Given the description of an element on the screen output the (x, y) to click on. 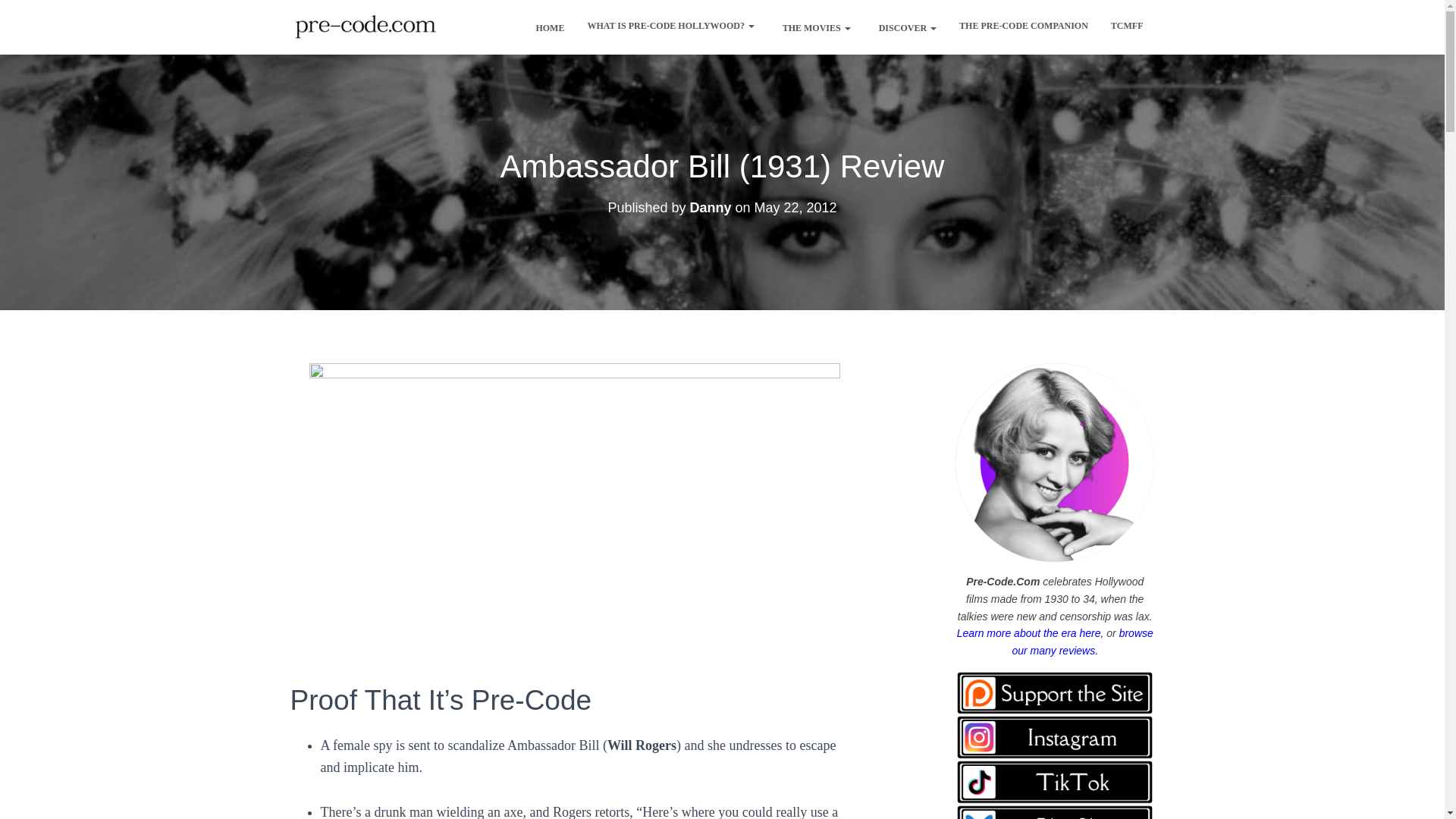
The Movies (813, 26)
TCMFF (1126, 26)
Danny (709, 207)
 THE MOVIES (813, 26)
THE PRE-CODE COMPANION (1023, 26)
Discover (904, 26)
Pre-Code.Com (365, 26)
 DISCOVER (904, 26)
 HOME (546, 26)
What is Pre-Code Hollywood? (670, 26)
Homepage (546, 26)
WHAT IS PRE-CODE HOLLYWOOD? (670, 26)
